Given the description of an element on the screen output the (x, y) to click on. 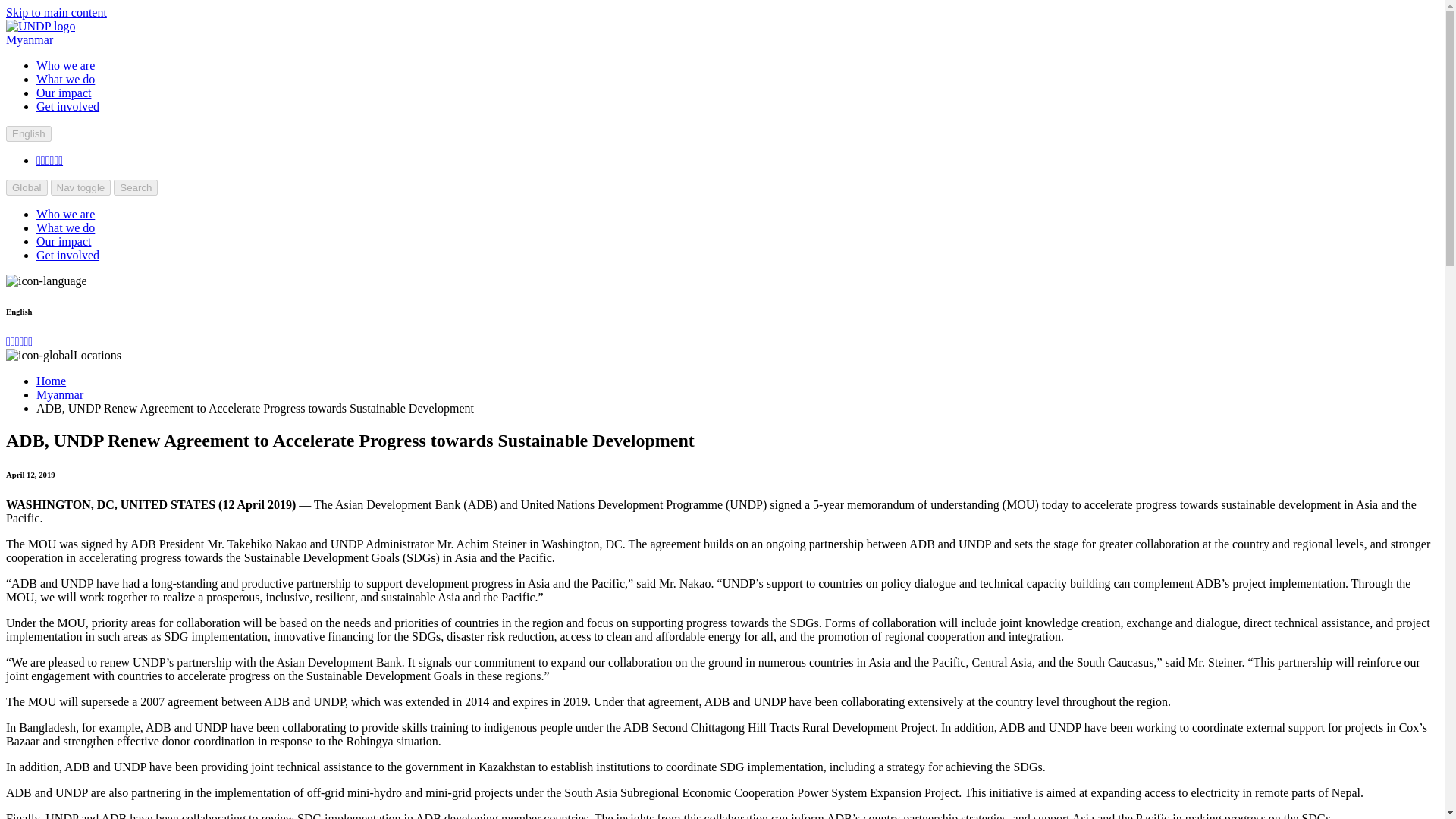
What we do (65, 227)
Our impact (63, 92)
Global (26, 187)
Get involved (67, 106)
Our impact (63, 241)
What we do (65, 78)
Who we are (65, 214)
Nav toggle (81, 187)
Locations (62, 354)
Home (50, 380)
Get involved (67, 254)
Myanmar (28, 39)
Search (135, 187)
Skip to main content (55, 11)
Myanmar (59, 394)
